Given the description of an element on the screen output the (x, y) to click on. 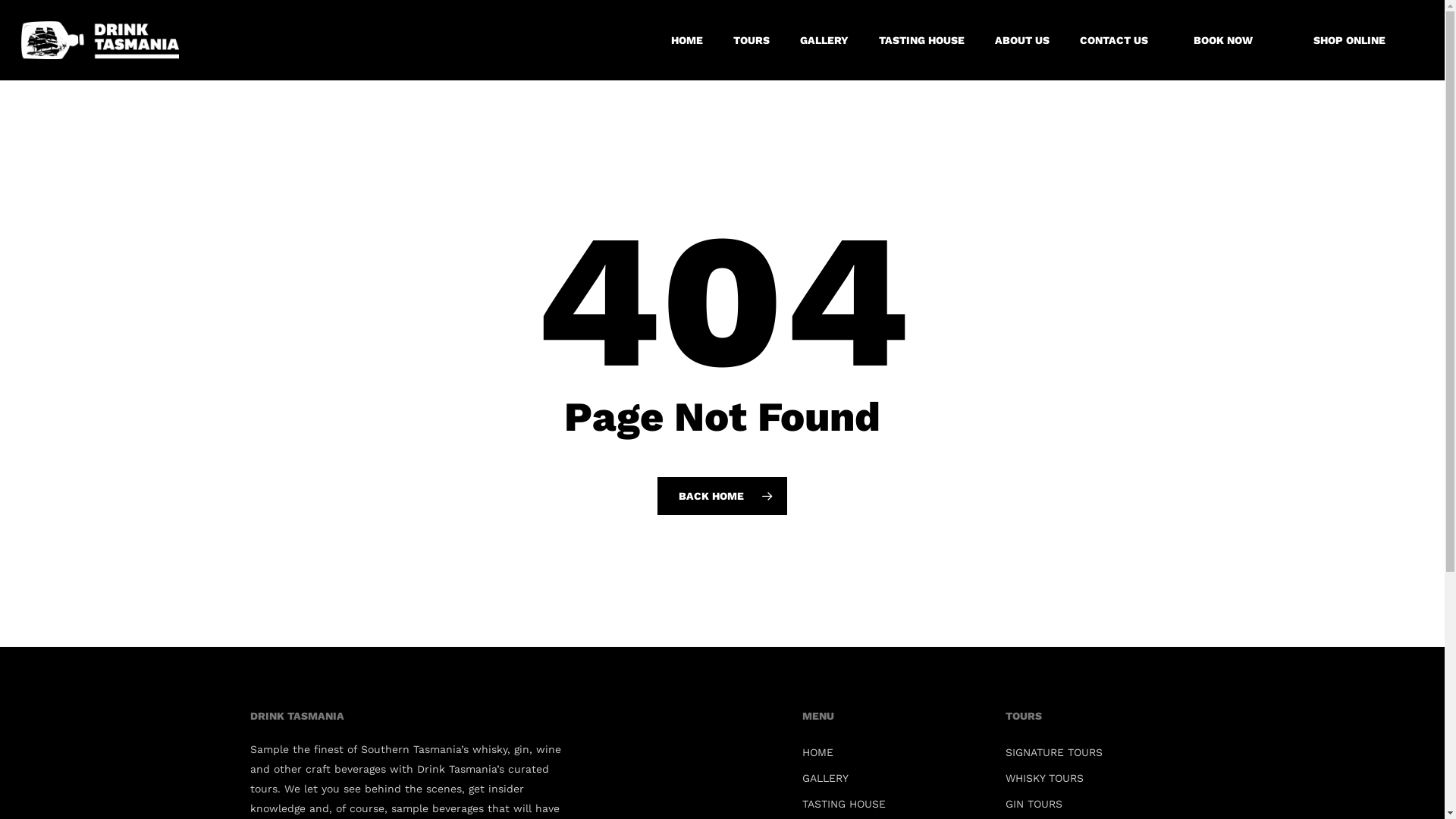
HOME Element type: text (686, 39)
BACK HOME Element type: text (722, 495)
TASTING HOUSE Element type: text (921, 39)
CONTACT US Element type: text (1113, 39)
WHISKY TOURS Element type: text (1097, 777)
SIGNATURE TOURS Element type: text (1097, 752)
TASTING HOUSE Element type: text (894, 803)
TOURS Element type: text (751, 39)
GIN TOURS Element type: text (1097, 803)
GALLERY Element type: text (824, 39)
ABOUT US Element type: text (1021, 39)
GALLERY Element type: text (894, 777)
HOME Element type: text (894, 752)
BOOK NOW Element type: text (1222, 39)
SHOP ONLINE Element type: text (1349, 39)
